Given the description of an element on the screen output the (x, y) to click on. 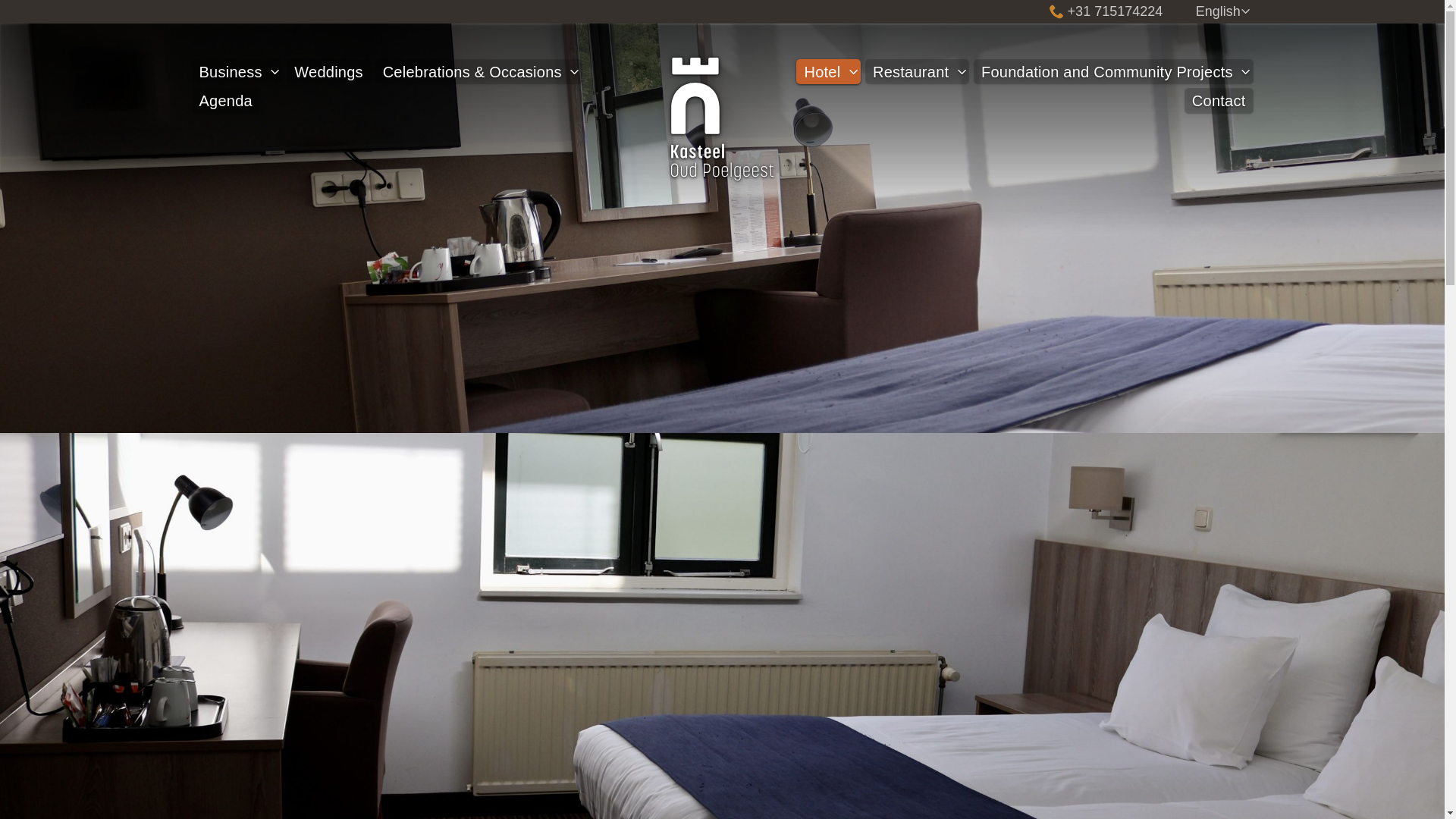
Weddings (328, 71)
Agenda (224, 100)
Contact (1219, 100)
Business (229, 71)
Hotel (821, 71)
Restaurant (910, 71)
Foundation and Community Projects (1107, 71)
